Given the description of an element on the screen output the (x, y) to click on. 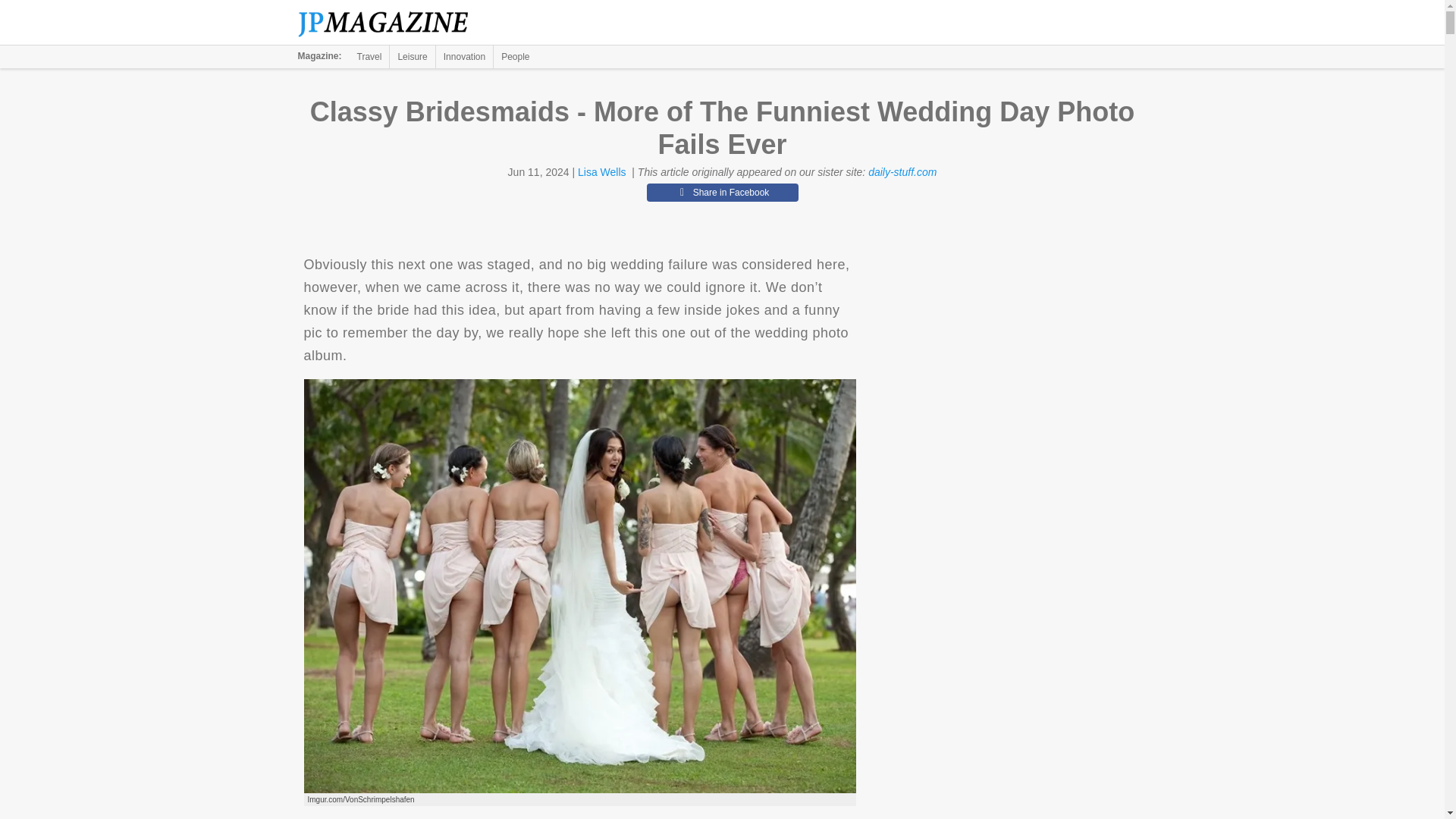
The Jerusalem Post Magazine (391, 22)
daily-stuff.com (901, 172)
Travel (369, 56)
Leisure (411, 56)
Innovation (464, 56)
Share in Facebook (721, 192)
Lisa Wells (602, 172)
People (515, 56)
